Given the description of an element on the screen output the (x, y) to click on. 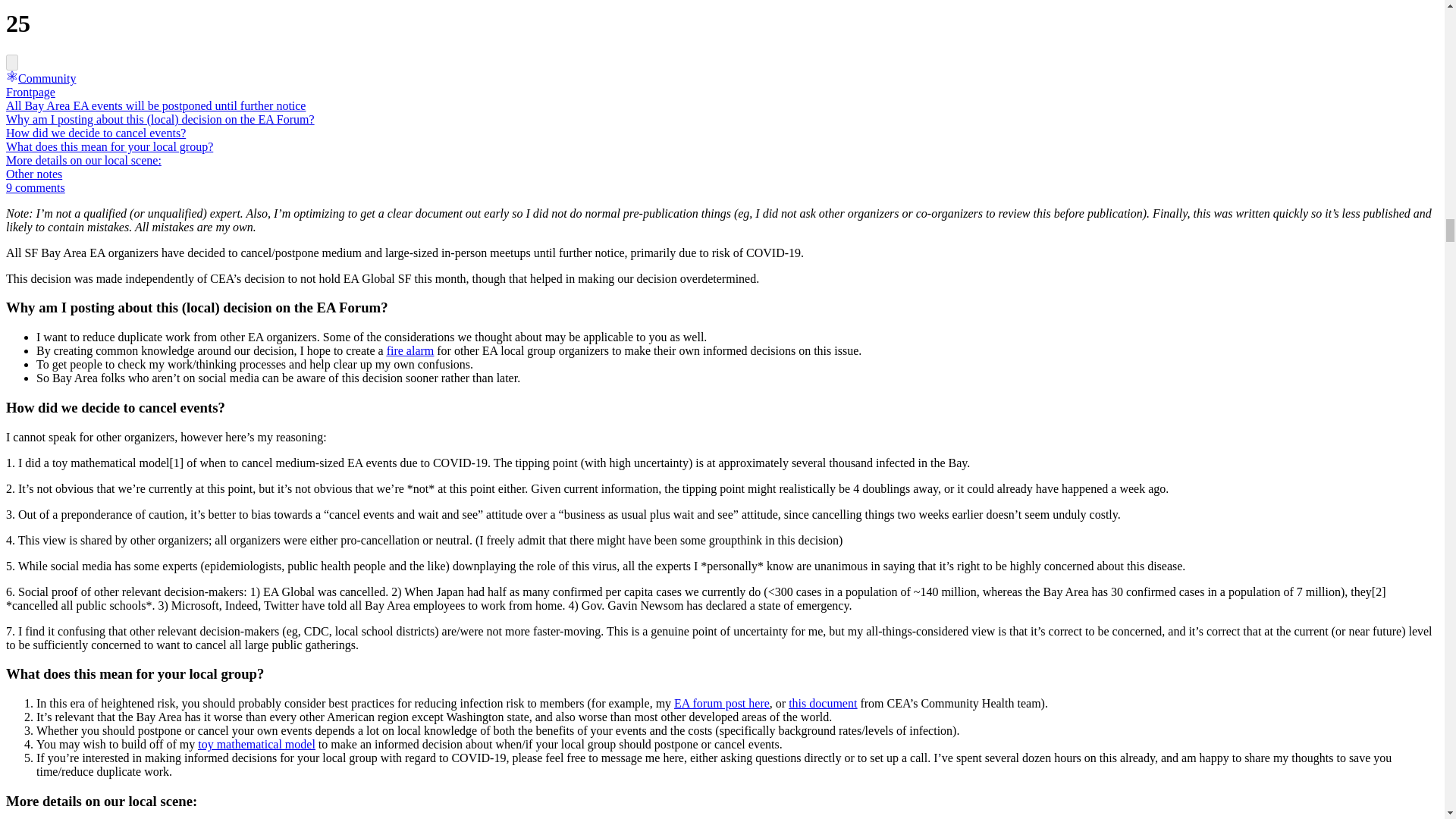
More details on our local scene: (83, 160)
Community (40, 78)
this document (823, 703)
fire alarm (410, 350)
How did we decide to cancel events? (95, 132)
EA forum post here (722, 703)
9 comments (35, 187)
toy mathematical model (256, 744)
Other notes (33, 173)
